Given the description of an element on the screen output the (x, y) to click on. 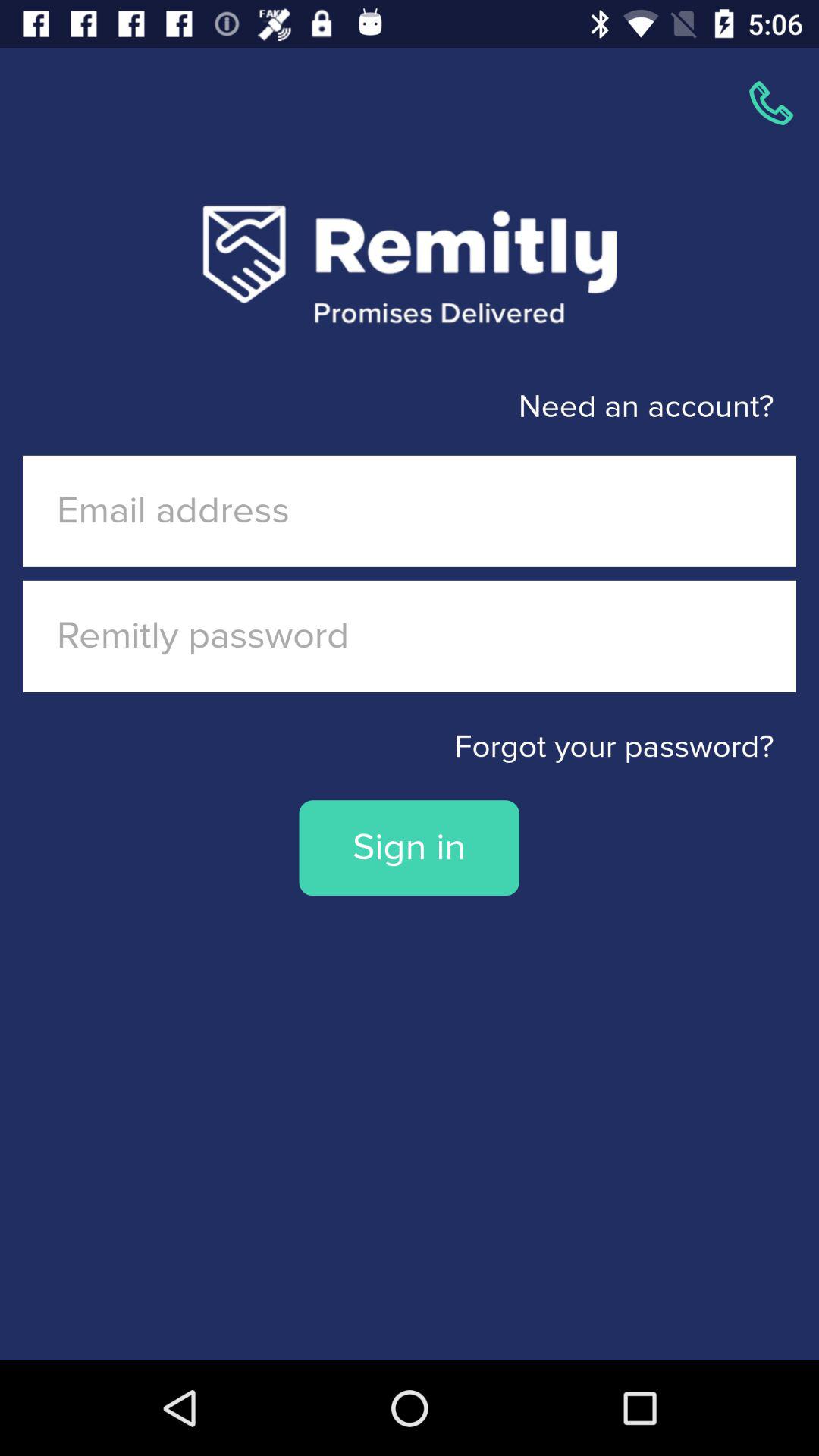
jump to the sign in icon (409, 847)
